Given the description of an element on the screen output the (x, y) to click on. 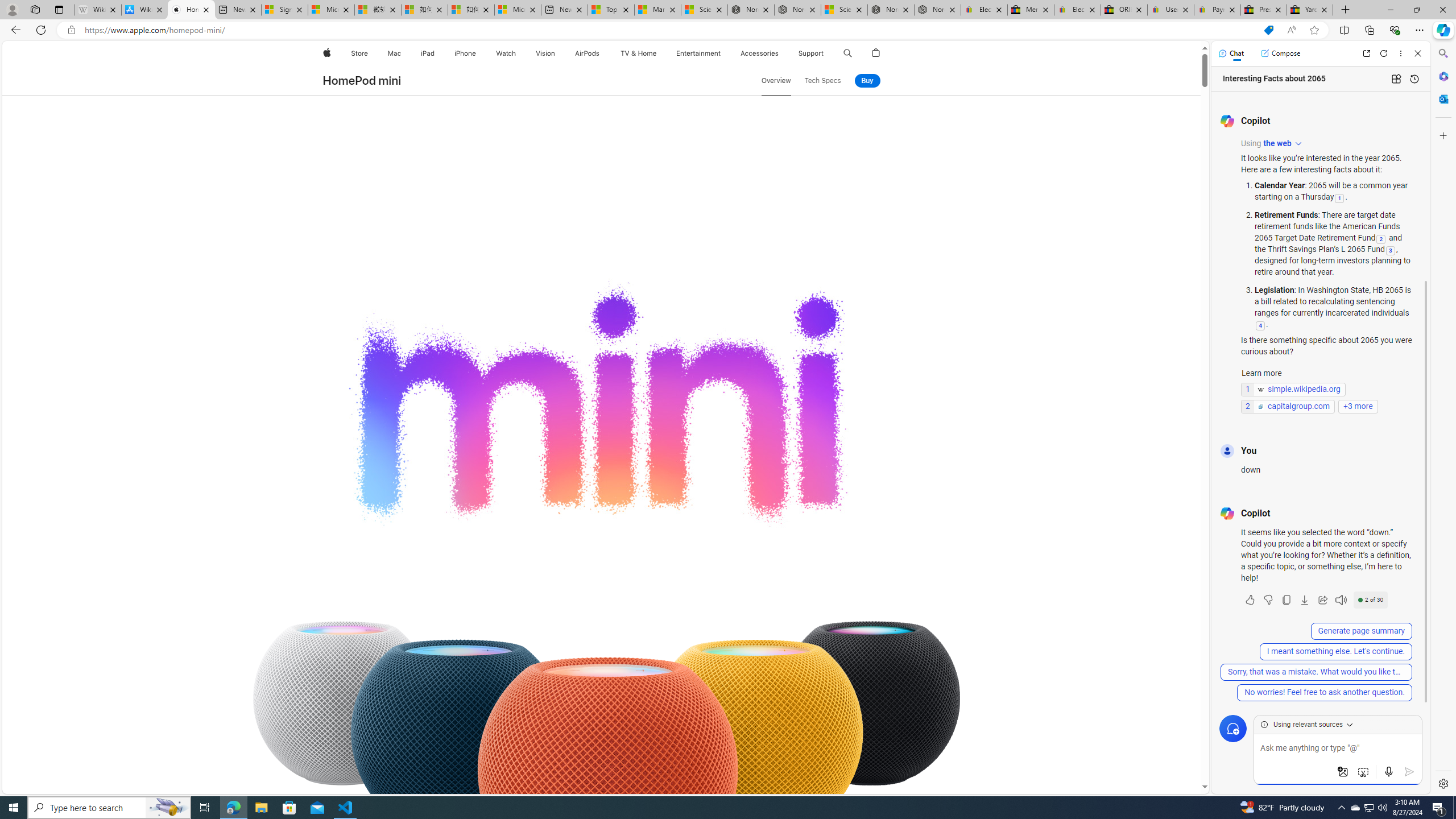
Overview (775, 80)
Apple (325, 53)
Compose (1280, 52)
AutomationID: globalnav-bag (876, 53)
HomePod mini (361, 80)
TV and Home menu (658, 53)
